Given the description of an element on the screen output the (x, y) to click on. 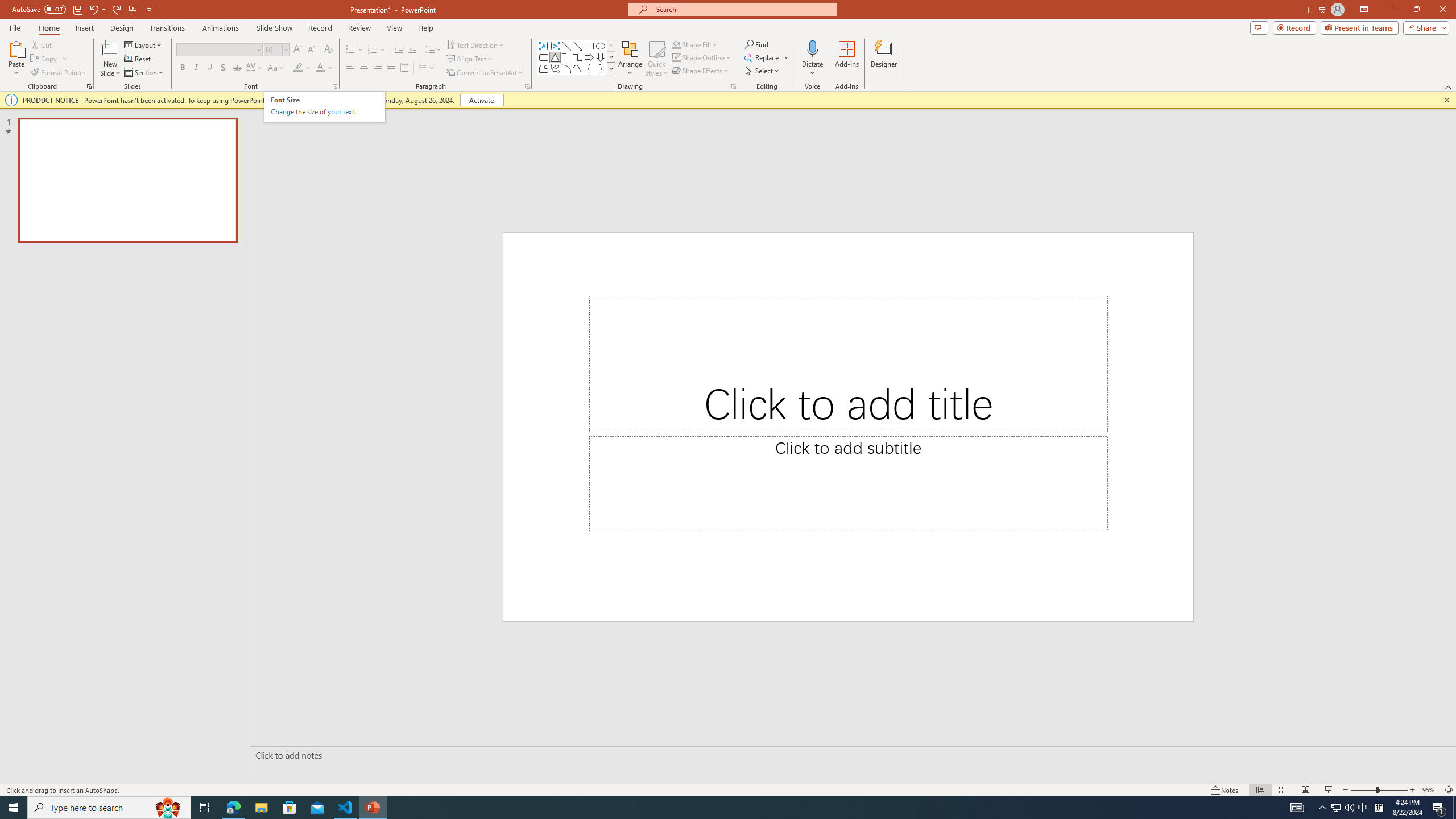
Rotate (926, 112)
Breaks (286, 72)
auto.py (163, 708)
Page Setup... (352, 128)
Visual Studio 2022 (32, 260)
edit (1405, 481)
Wrap Text (718, 92)
Help (575, 47)
Group (926, 91)
